Given the description of an element on the screen output the (x, y) to click on. 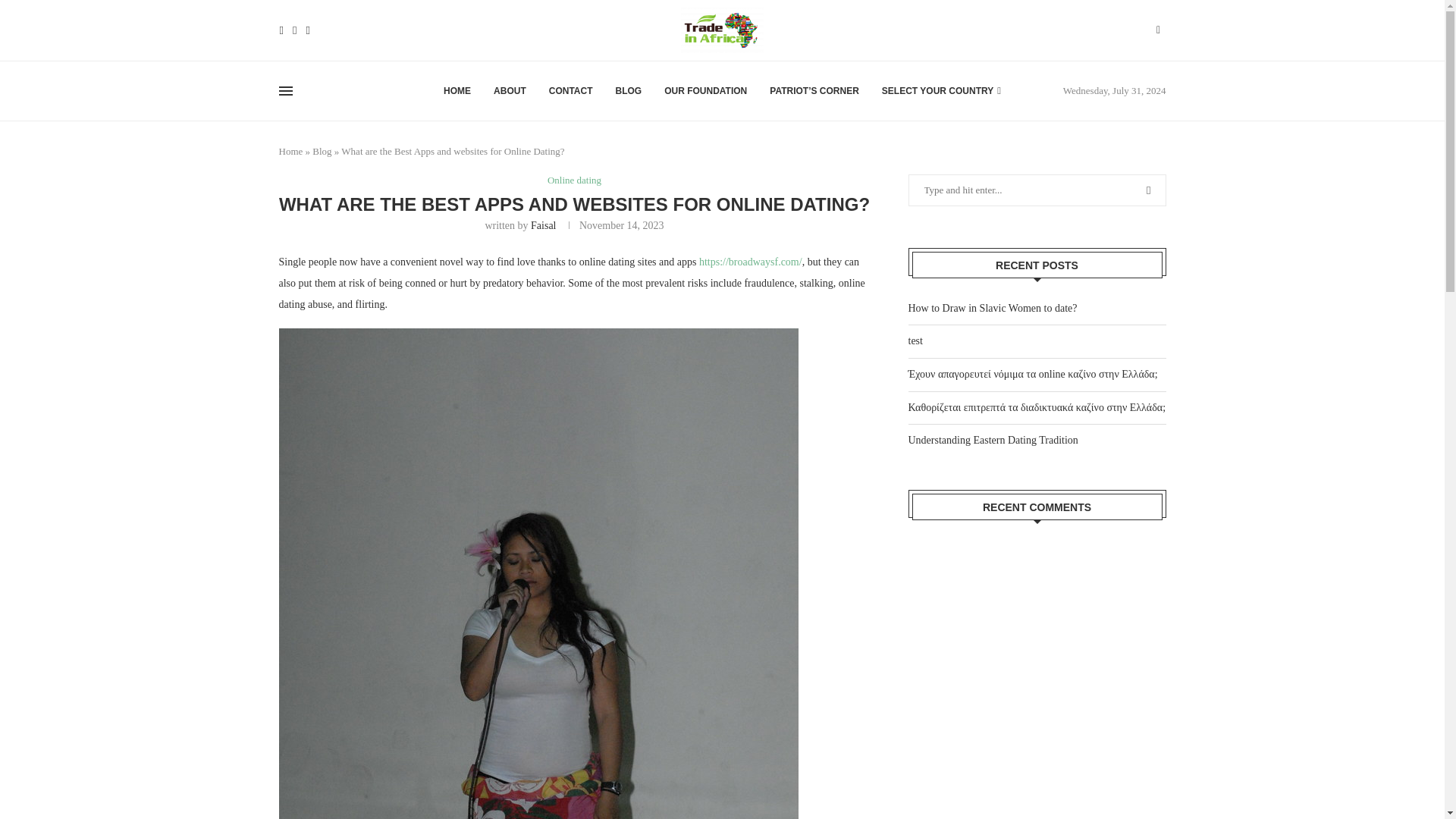
SELECT YOUR COUNTRY (941, 90)
CONTACT (570, 90)
Search (1117, 7)
OUR FOUNDATION (704, 90)
Search (1117, 59)
